Given the description of an element on the screen output the (x, y) to click on. 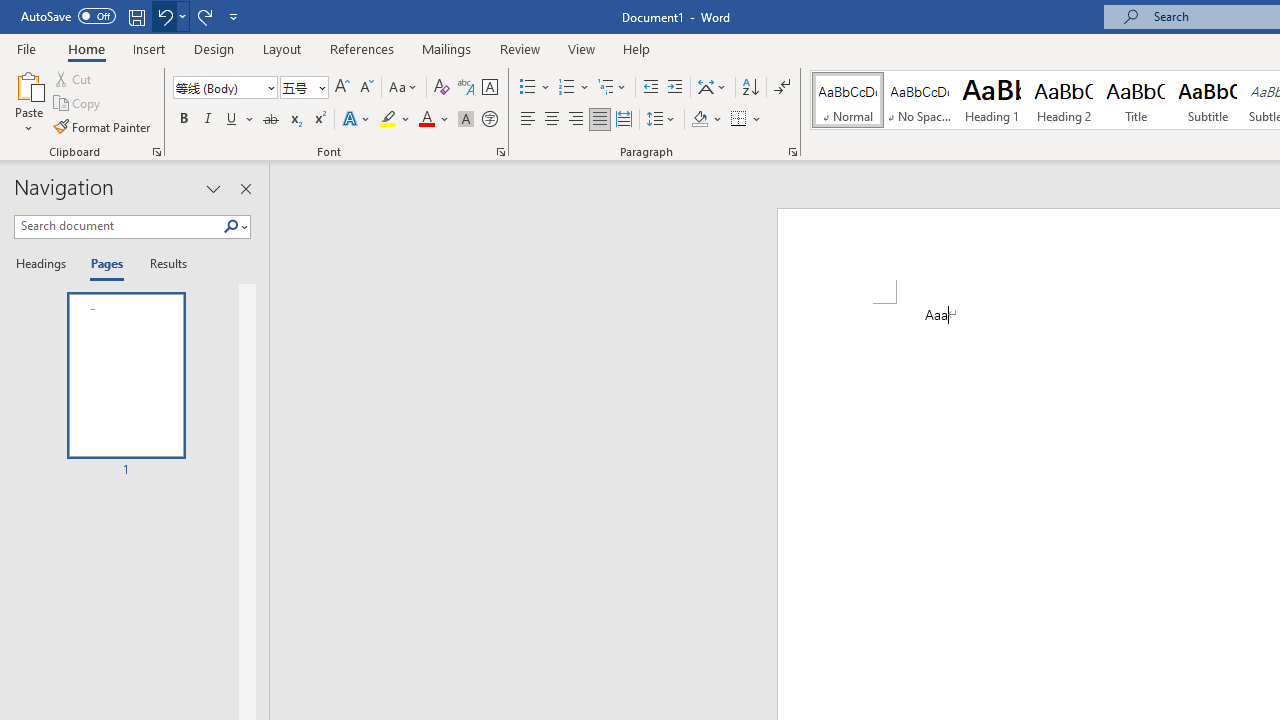
Grow Font (342, 87)
Font... (500, 151)
Redo Apply Quick Style (204, 15)
Align Left (527, 119)
Decrease Indent (650, 87)
Sort... (750, 87)
Justify (599, 119)
